Given the description of an element on the screen output the (x, y) to click on. 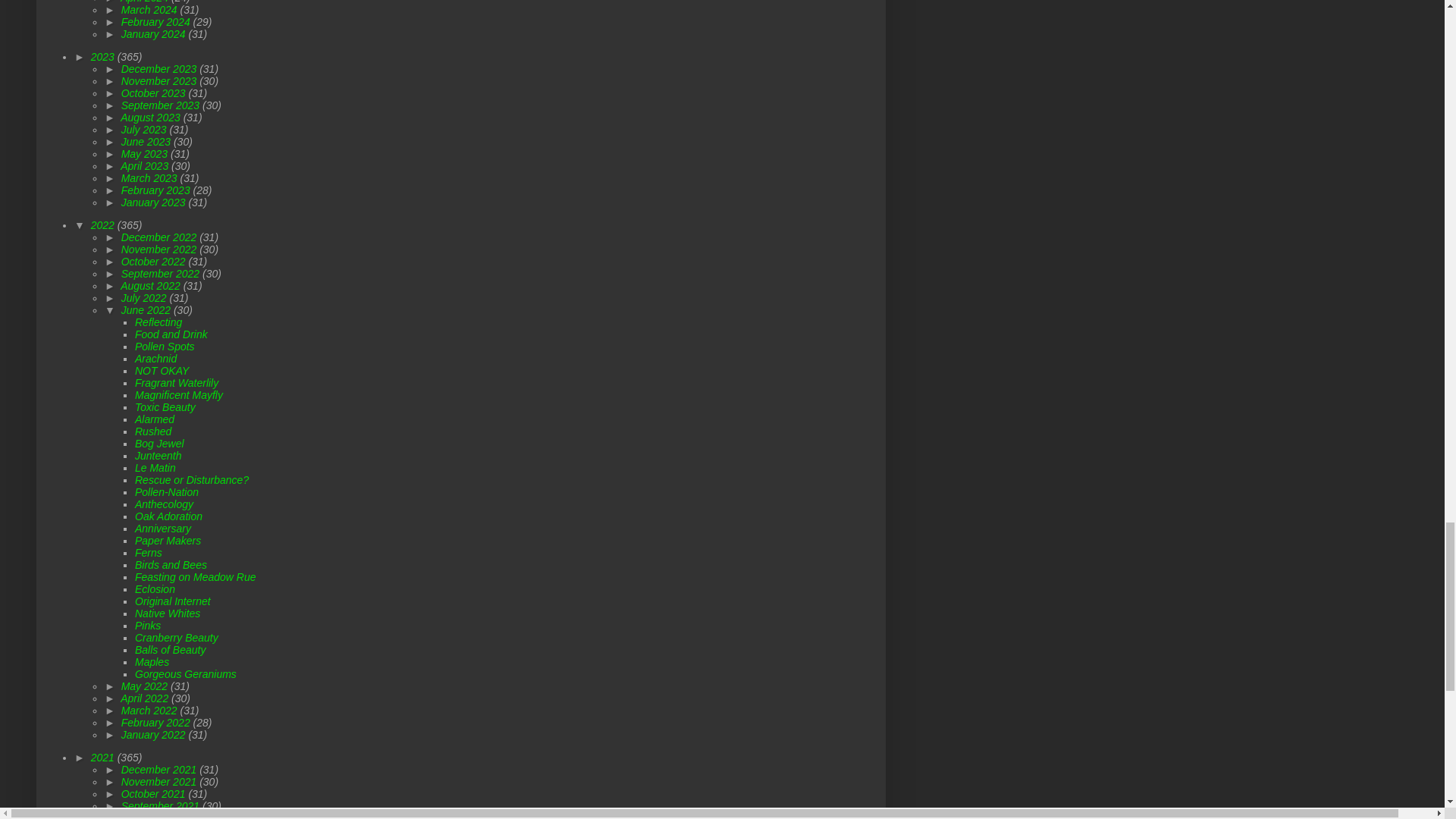
February 2024 (156, 21)
January 2024 (154, 33)
April 2024 (145, 2)
March 2024 (150, 9)
2023 (103, 56)
